Given the description of an element on the screen output the (x, y) to click on. 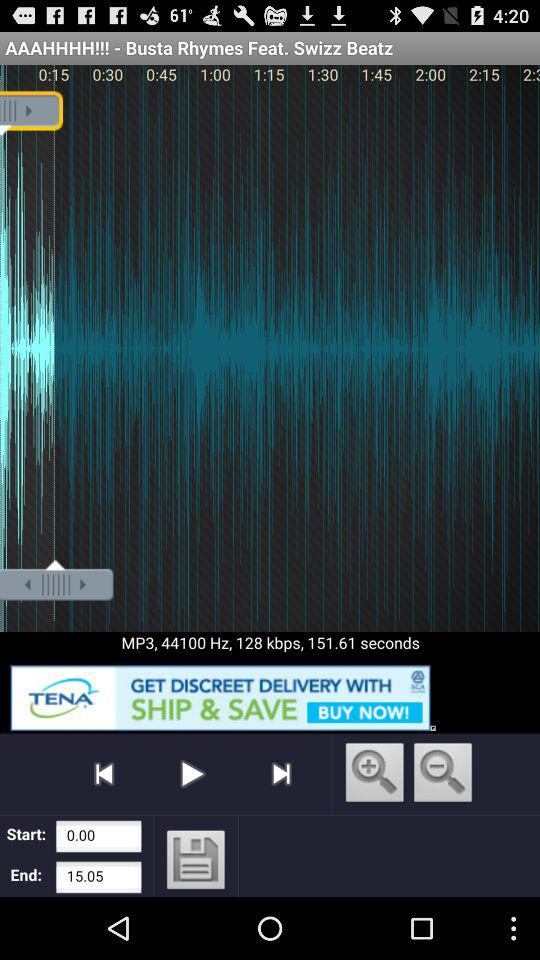
banner advertisement (270, 693)
